Given the description of an element on the screen output the (x, y) to click on. 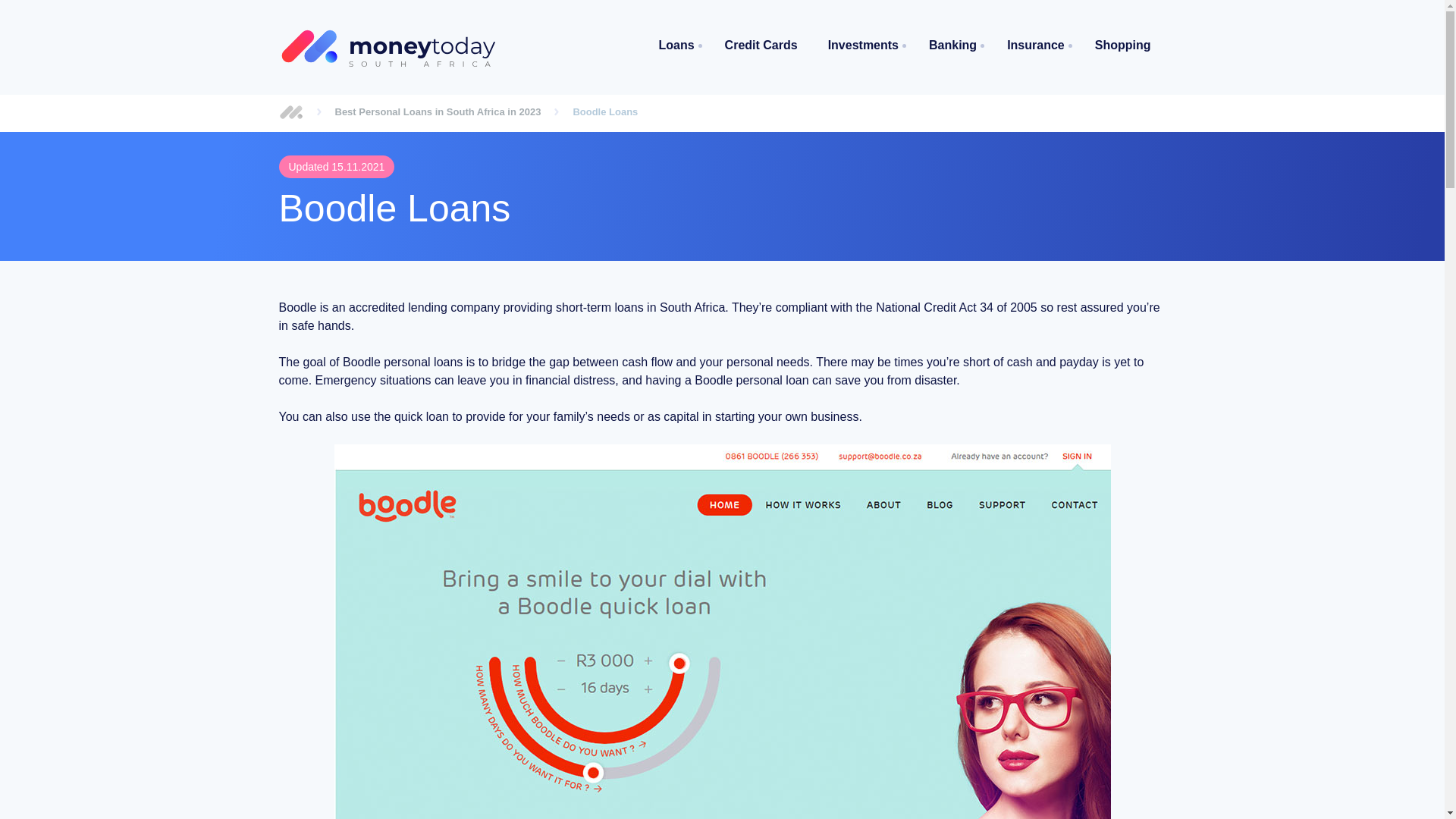
Go to Best Personal Loans in South Africa in 2023. (437, 111)
Home (290, 111)
